Given the description of an element on the screen output the (x, y) to click on. 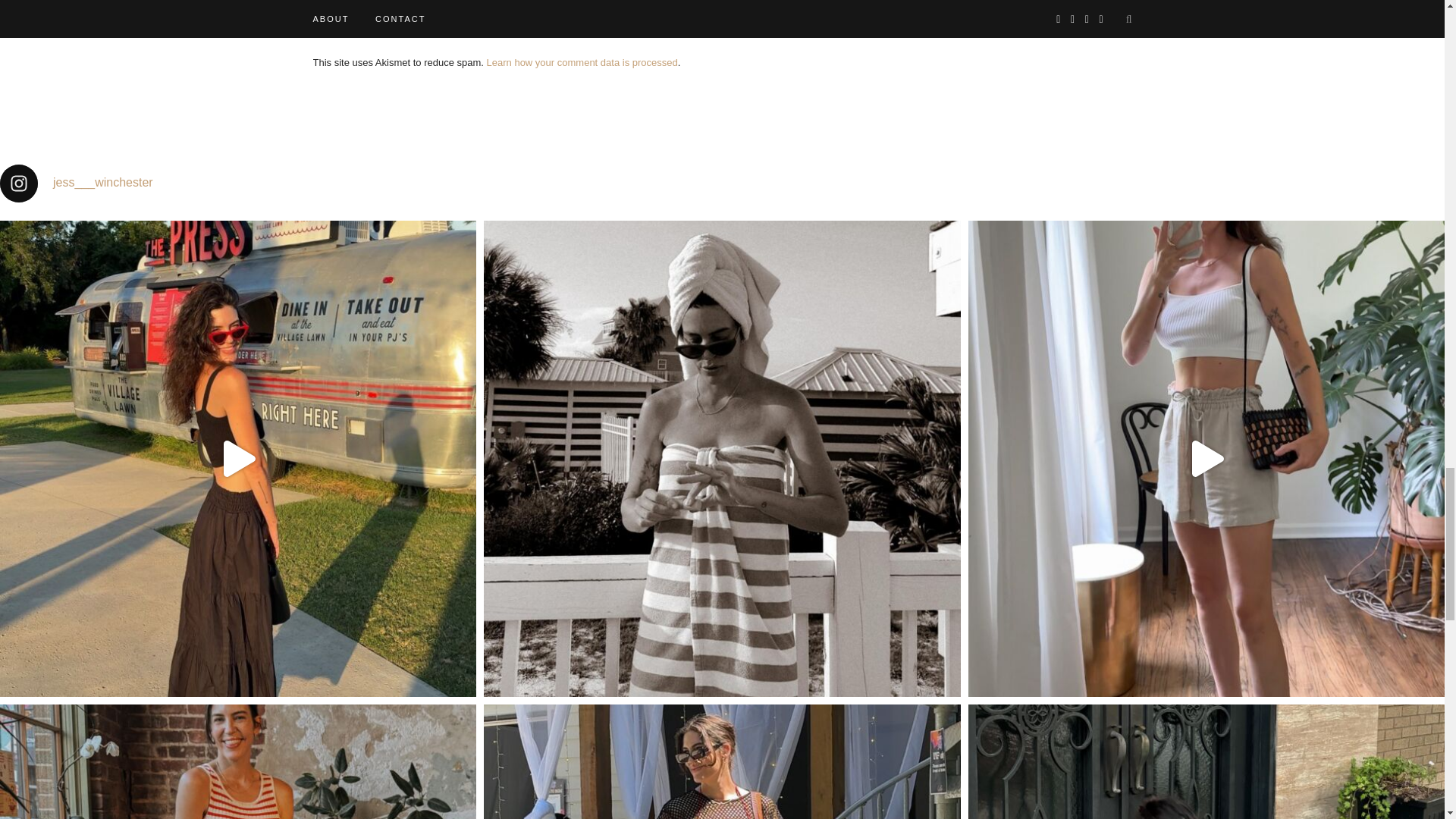
Post Comment (367, 14)
